Given the description of an element on the screen output the (x, y) to click on. 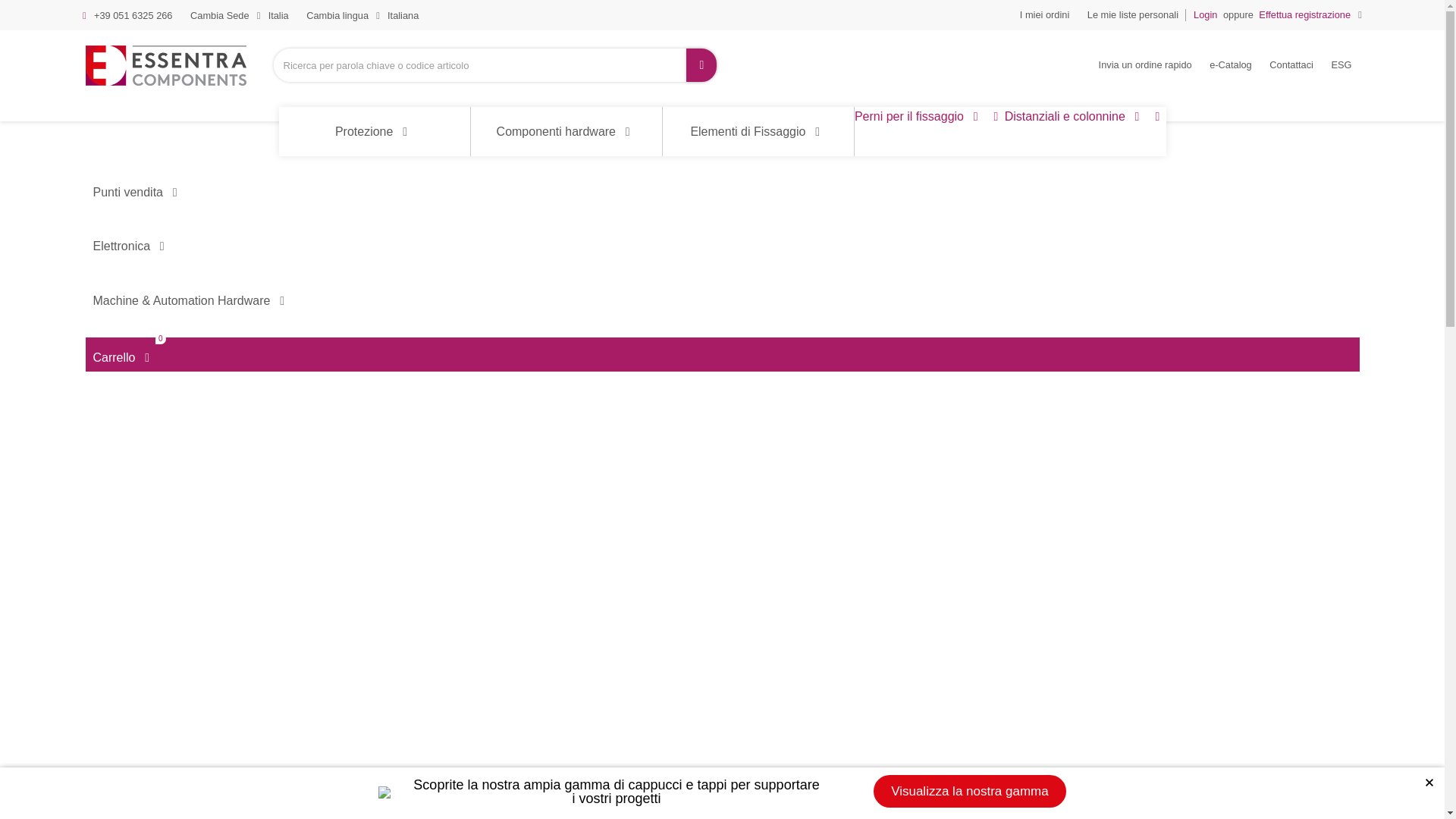
Cambia Sede Italia (240, 15)
Cambia lingua Italiana (362, 15)
